Given the description of an element on the screen output the (x, y) to click on. 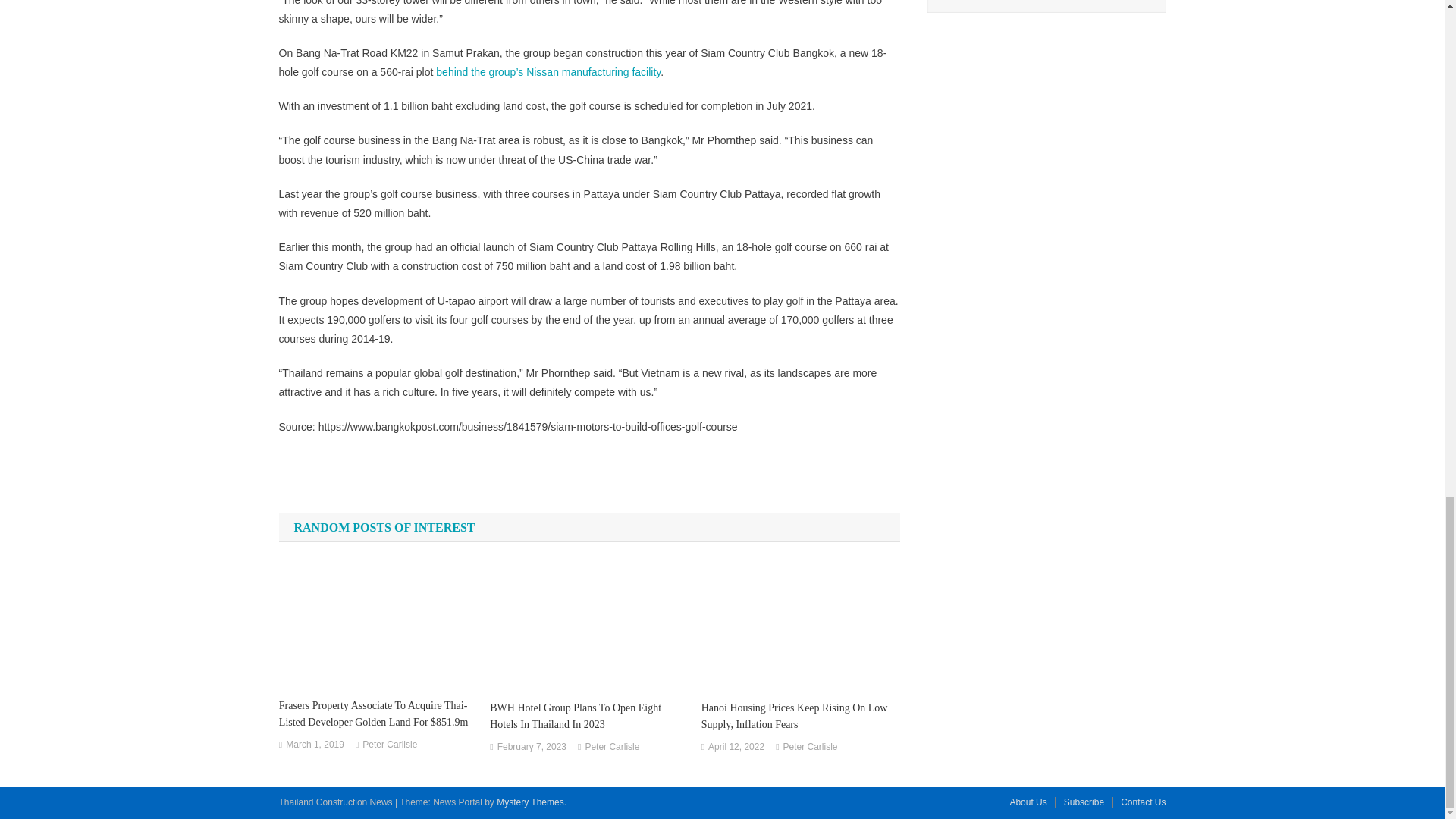
Peter Carlisle (389, 745)
March 1, 2019 (314, 745)
